Given the description of an element on the screen output the (x, y) to click on. 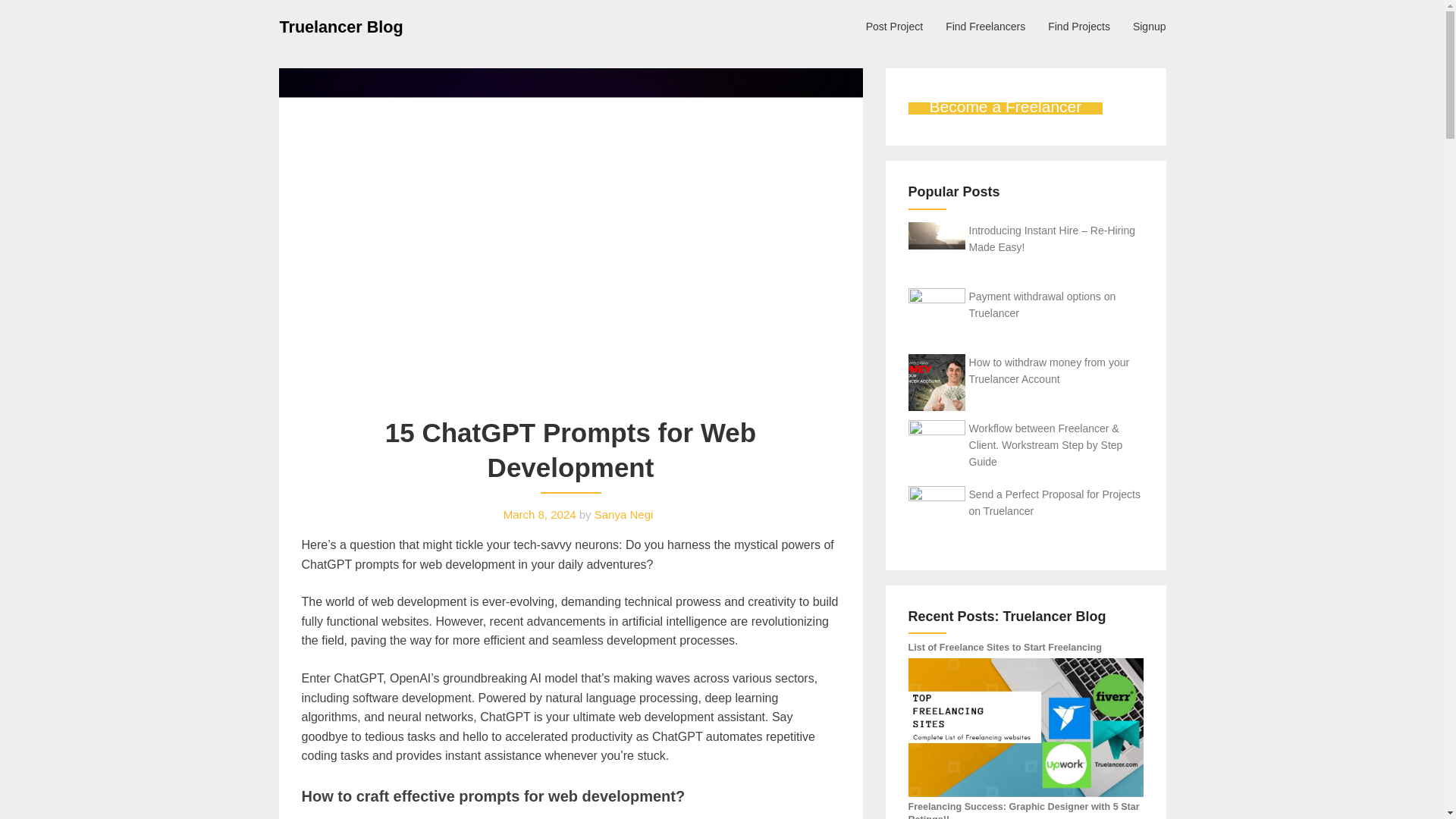
Find Projects (1078, 26)
List of Freelance Sites to Start Freelancing (1005, 647)
List of Freelance Sites to Start Freelancing (1025, 727)
How to withdraw money from your Truelancer Account (1049, 370)
Become a Freelancer (1005, 108)
Signup (1149, 26)
Send a Perfect Proposal for Projects on Truelancer (1054, 502)
March 8, 2024 (539, 513)
Become a Freelancer (1005, 108)
Post Project (894, 26)
